Given the description of an element on the screen output the (x, y) to click on. 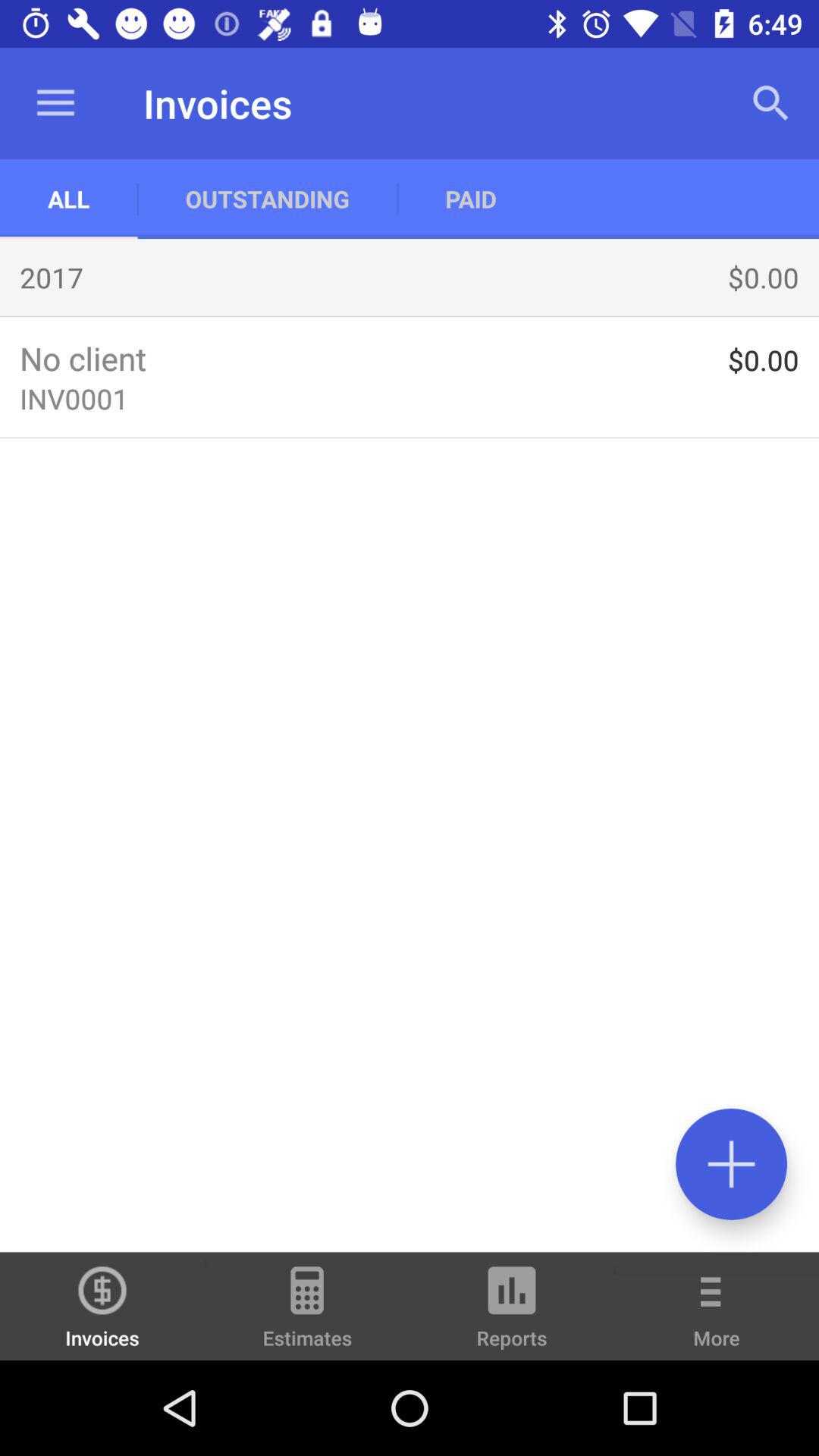
click item next to outstanding icon (68, 198)
